Given the description of an element on the screen output the (x, y) to click on. 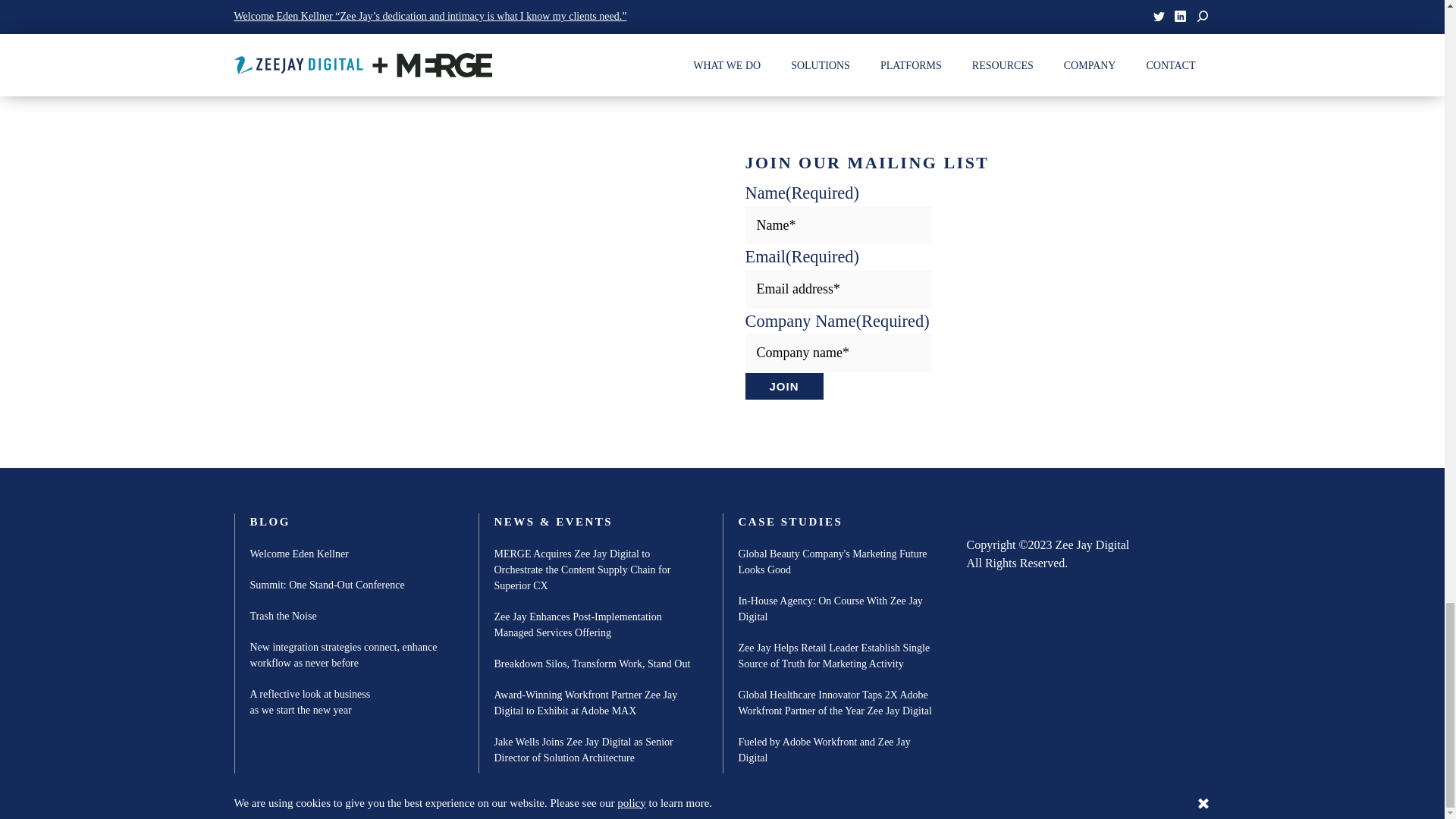
Welcome Eden Kellner (299, 553)
Join (783, 386)
Trash the Noise (283, 616)
Summit: One Stand-Out Conference (327, 584)
Join (783, 386)
